Given the description of an element on the screen output the (x, y) to click on. 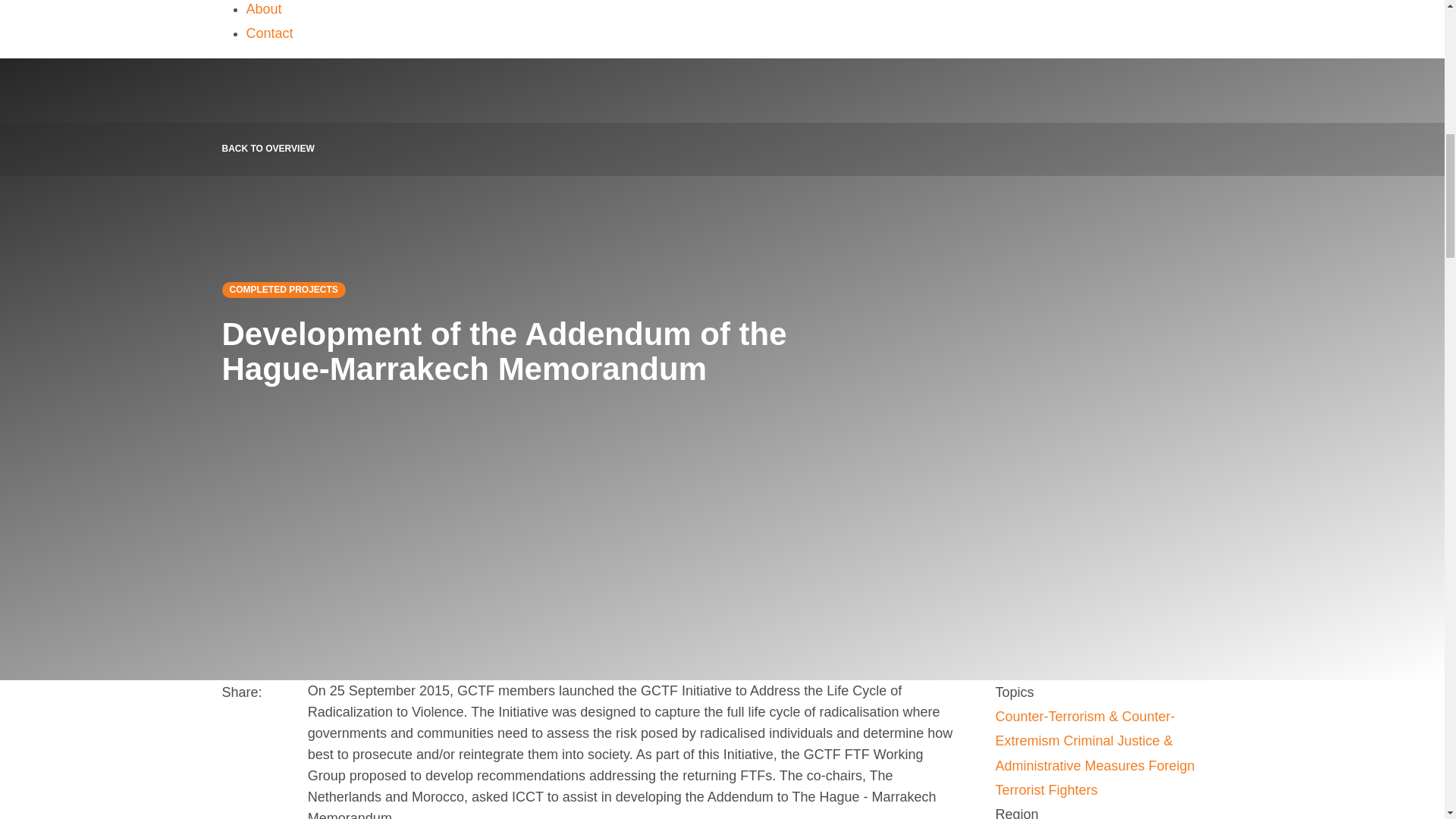
Contact (269, 32)
Foreign Terrorist Fighters (1093, 777)
About (263, 8)
